Given the description of an element on the screen output the (x, y) to click on. 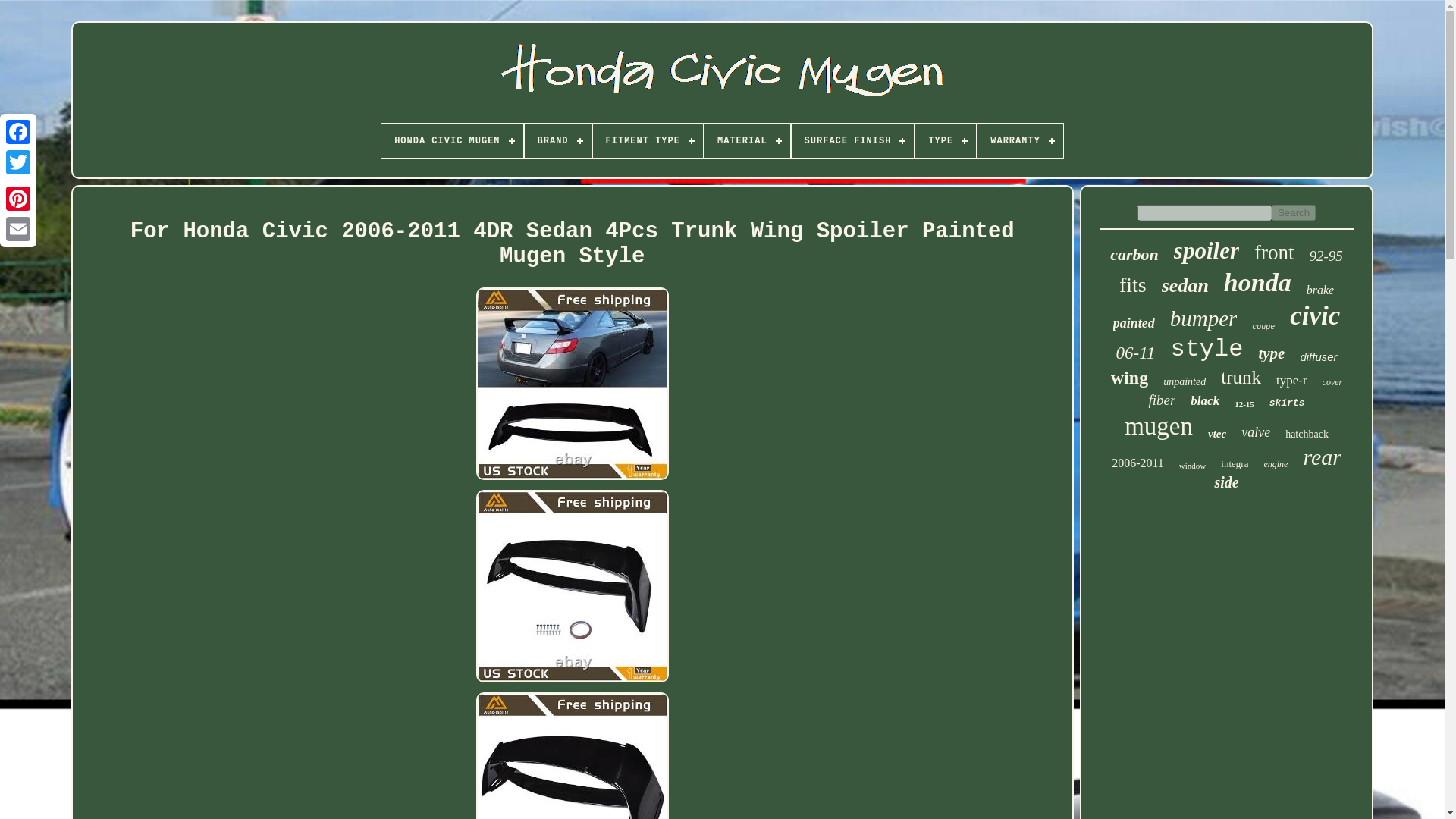
Search (1293, 212)
BRAND (557, 140)
FITMENT TYPE (647, 140)
MATERIAL (747, 140)
HONDA CIVIC MUGEN (451, 140)
